Given the description of an element on the screen output the (x, y) to click on. 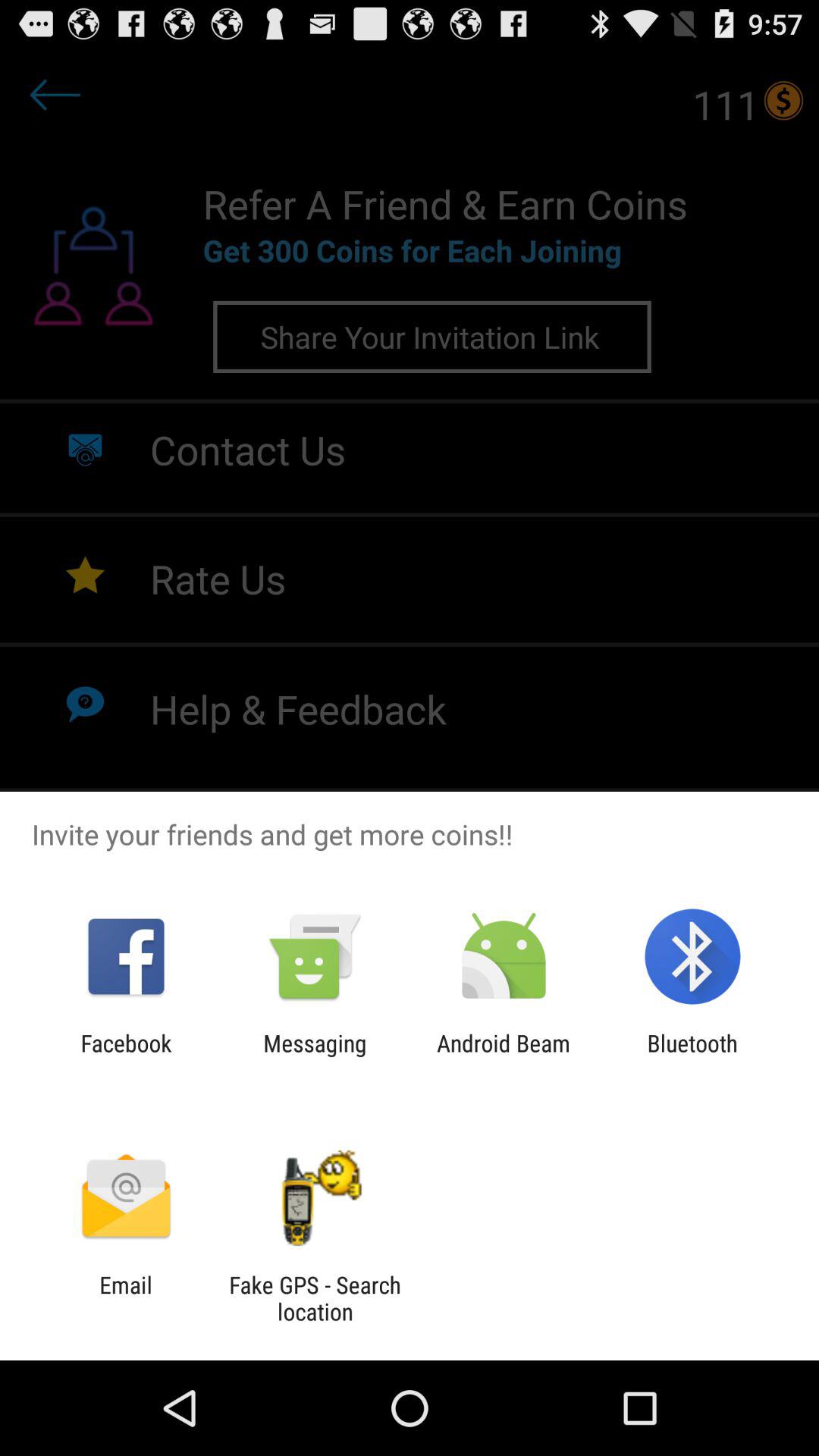
choose messaging icon (314, 1056)
